Given the description of an element on the screen output the (x, y) to click on. 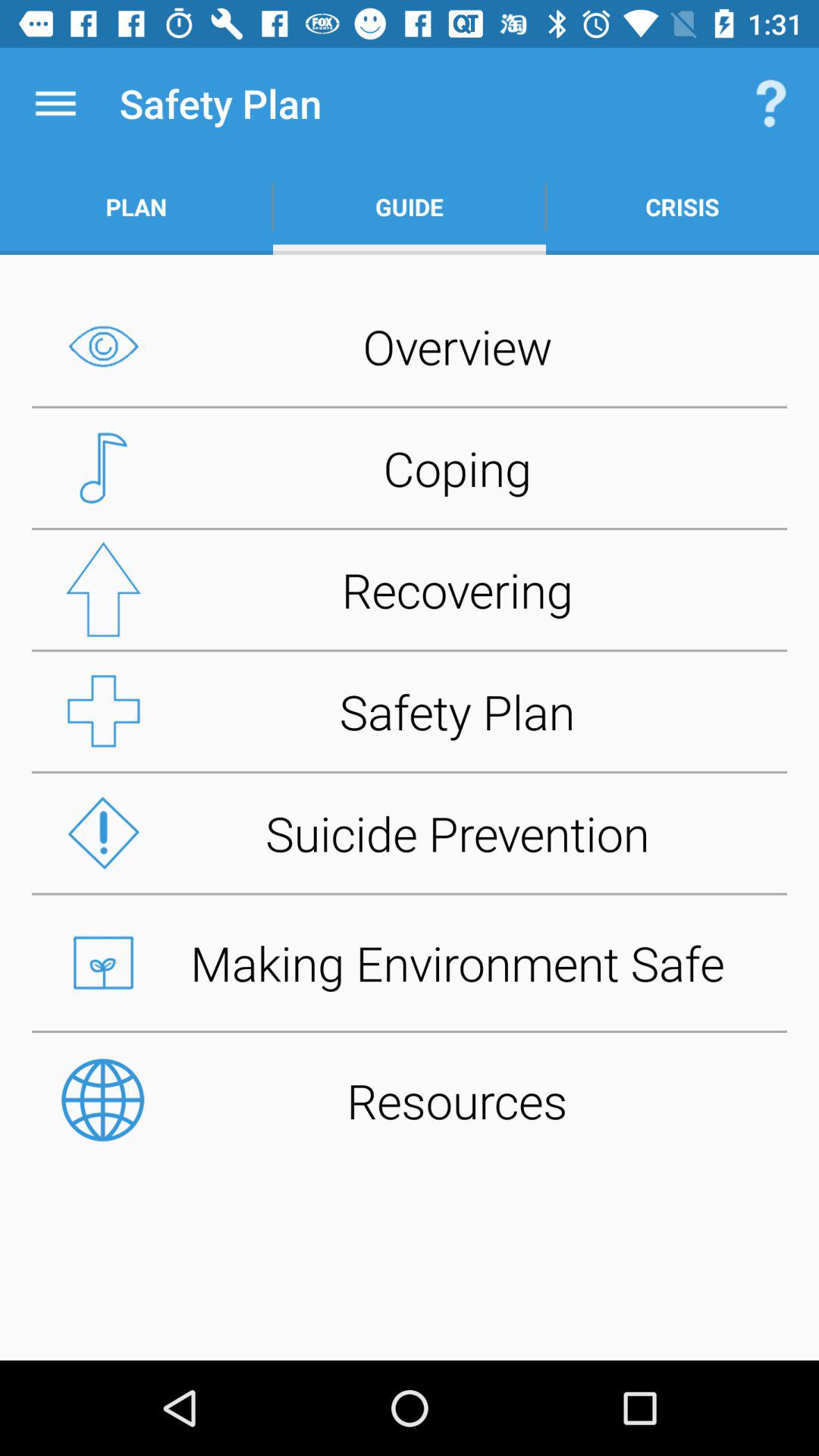
launch the app below plan app (409, 346)
